Given the description of an element on the screen output the (x, y) to click on. 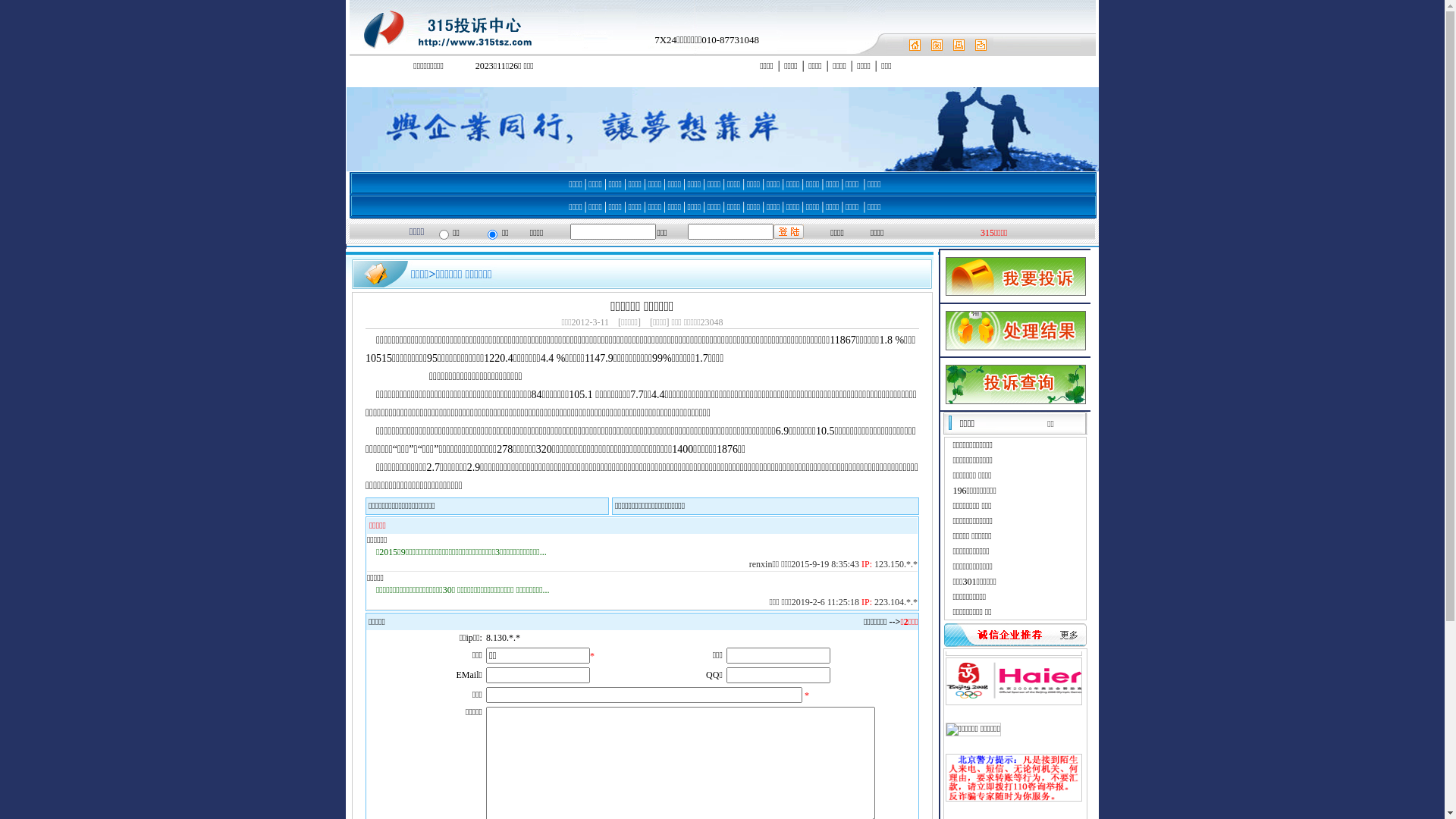
afd1 Element type: text (354, 80)
